Given the description of an element on the screen output the (x, y) to click on. 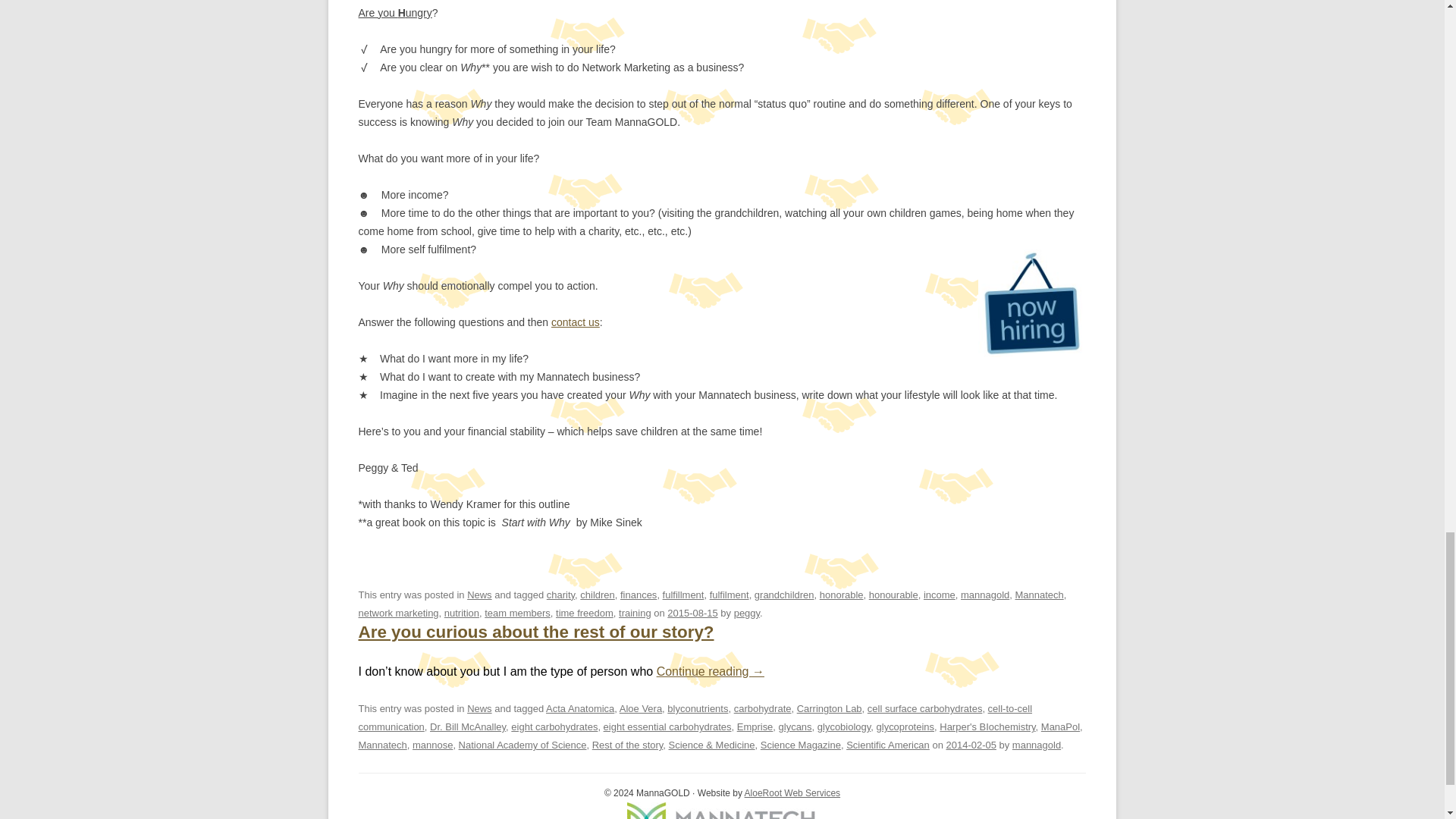
4:47 pm (970, 745)
View all posts by peggy (746, 613)
View all posts by mannagold (1036, 745)
11:03 pm (691, 613)
